Given the description of an element on the screen output the (x, y) to click on. 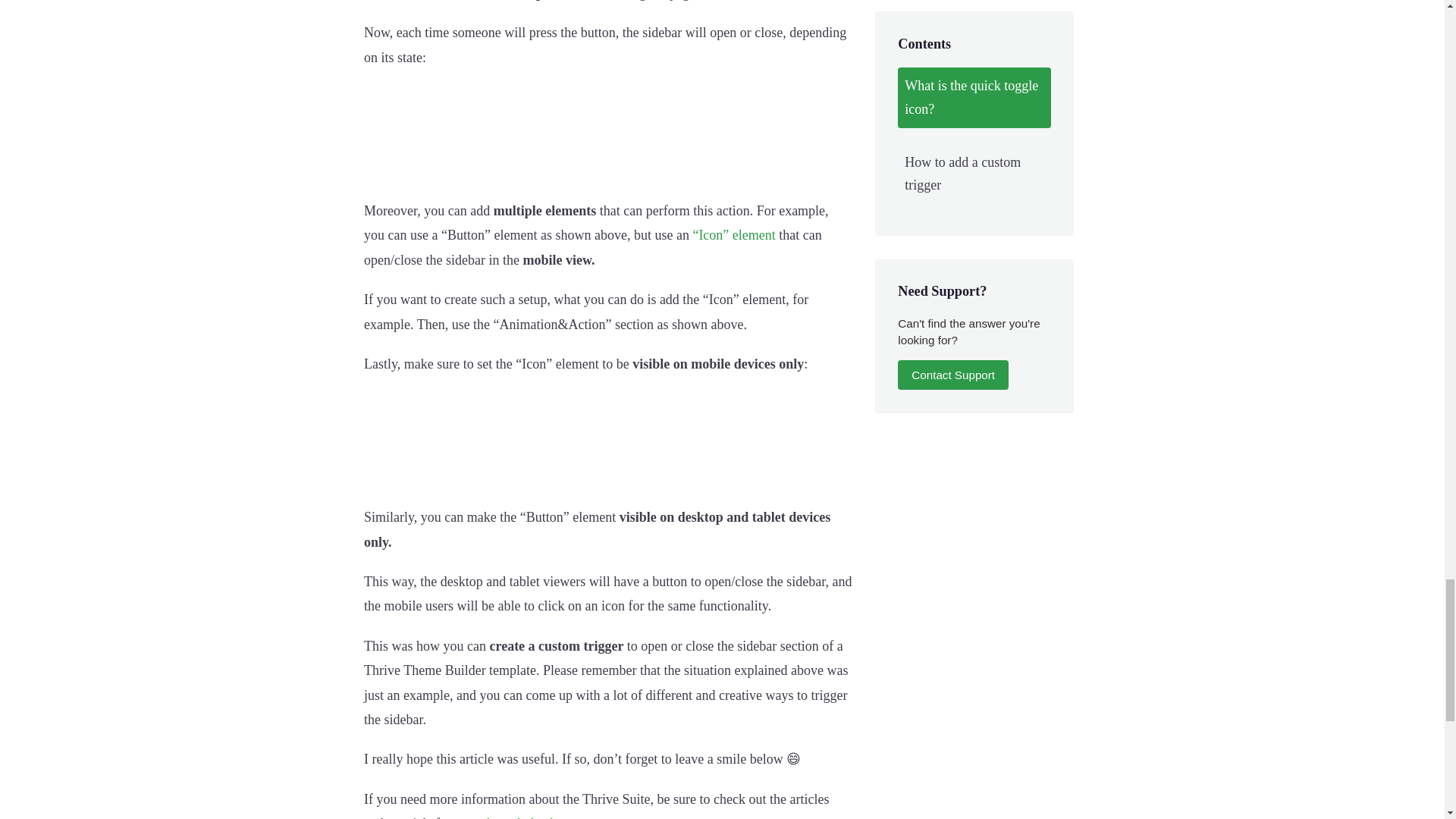
knowledge base (529, 817)
